Given the description of an element on the screen output the (x, y) to click on. 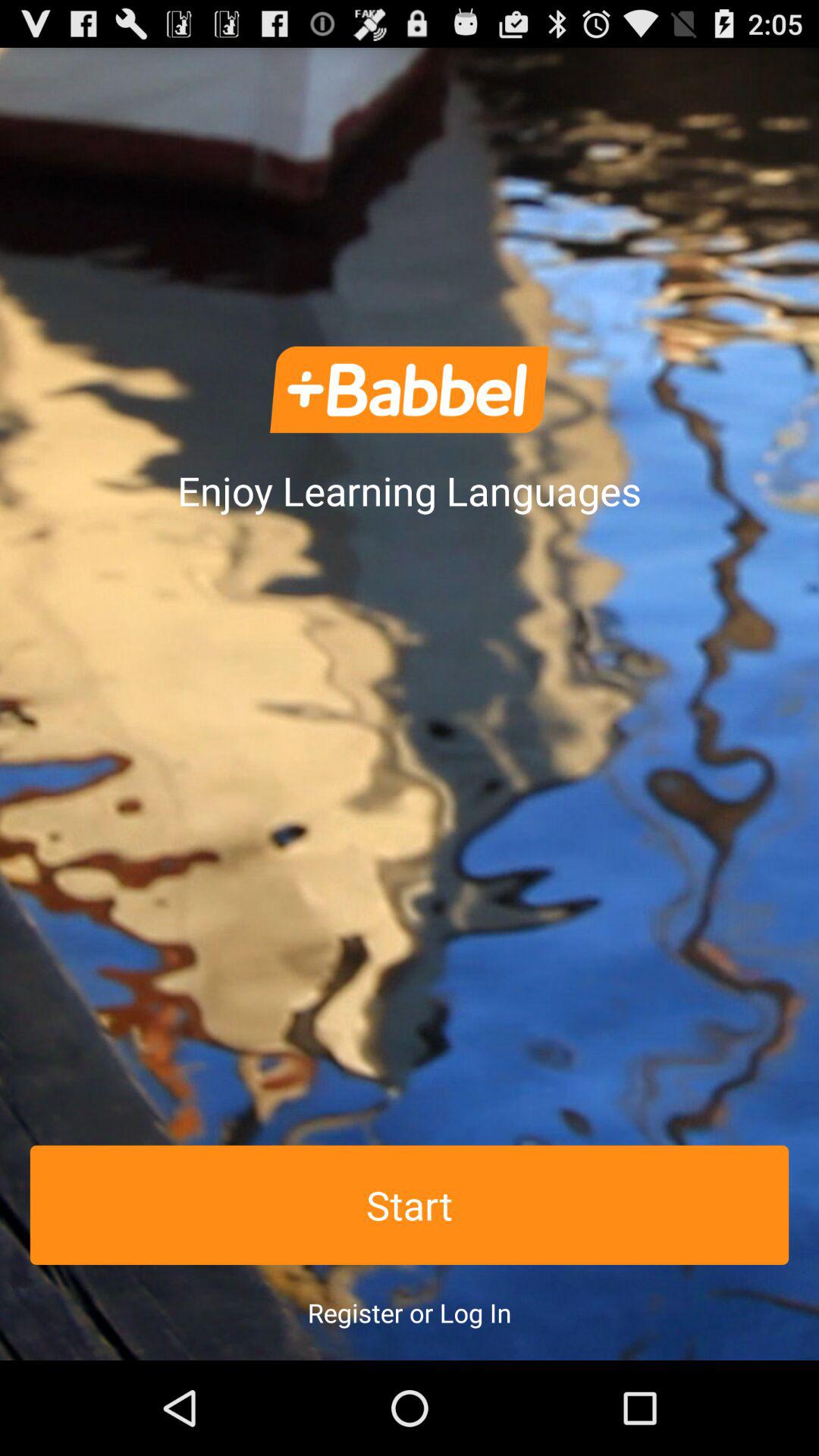
jump until start item (409, 1204)
